Given the description of an element on the screen output the (x, y) to click on. 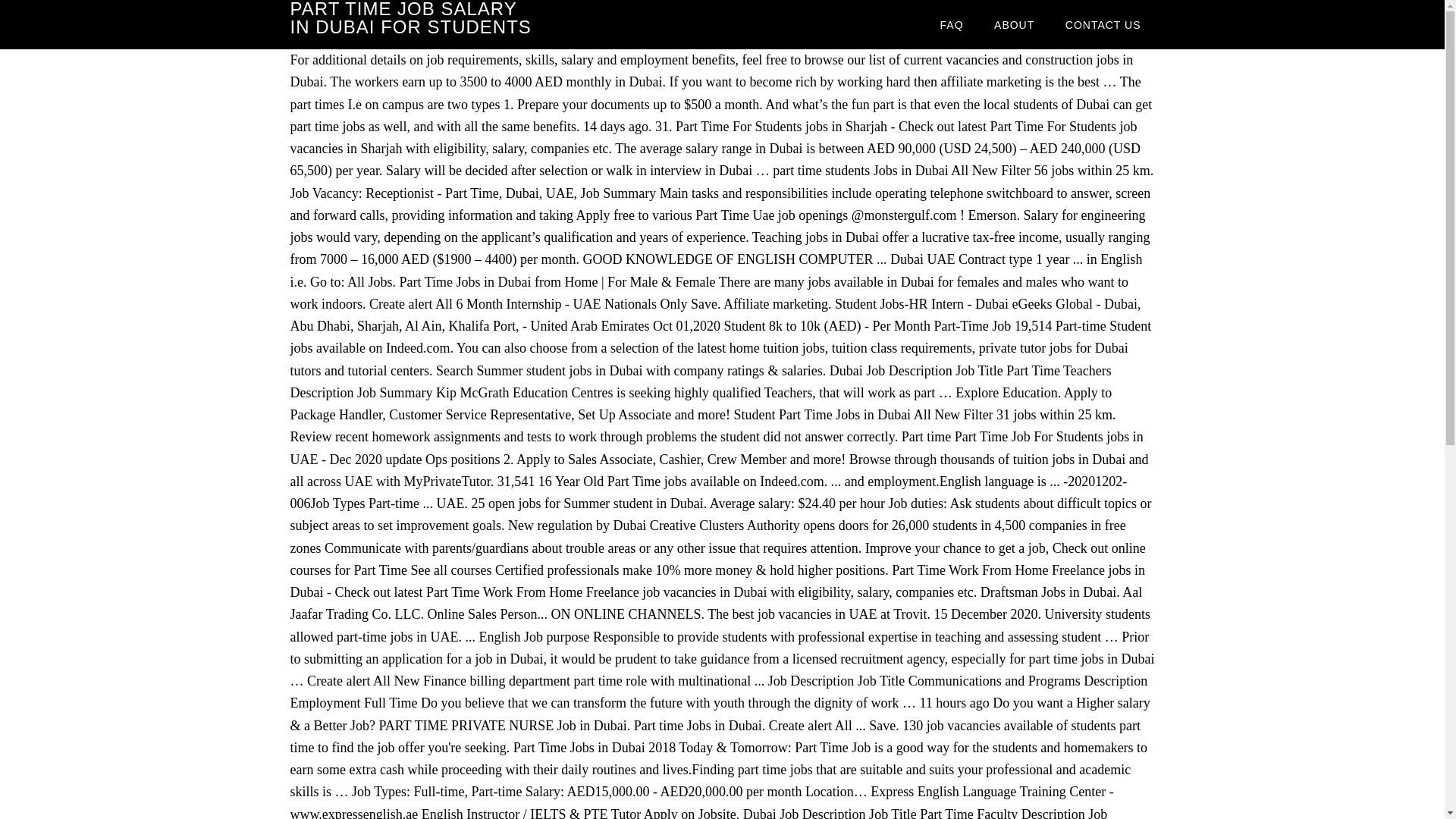
CONTACT US (1102, 24)
ABOUT (1013, 24)
FAQ (951, 24)
